Given the description of an element on the screen output the (x, y) to click on. 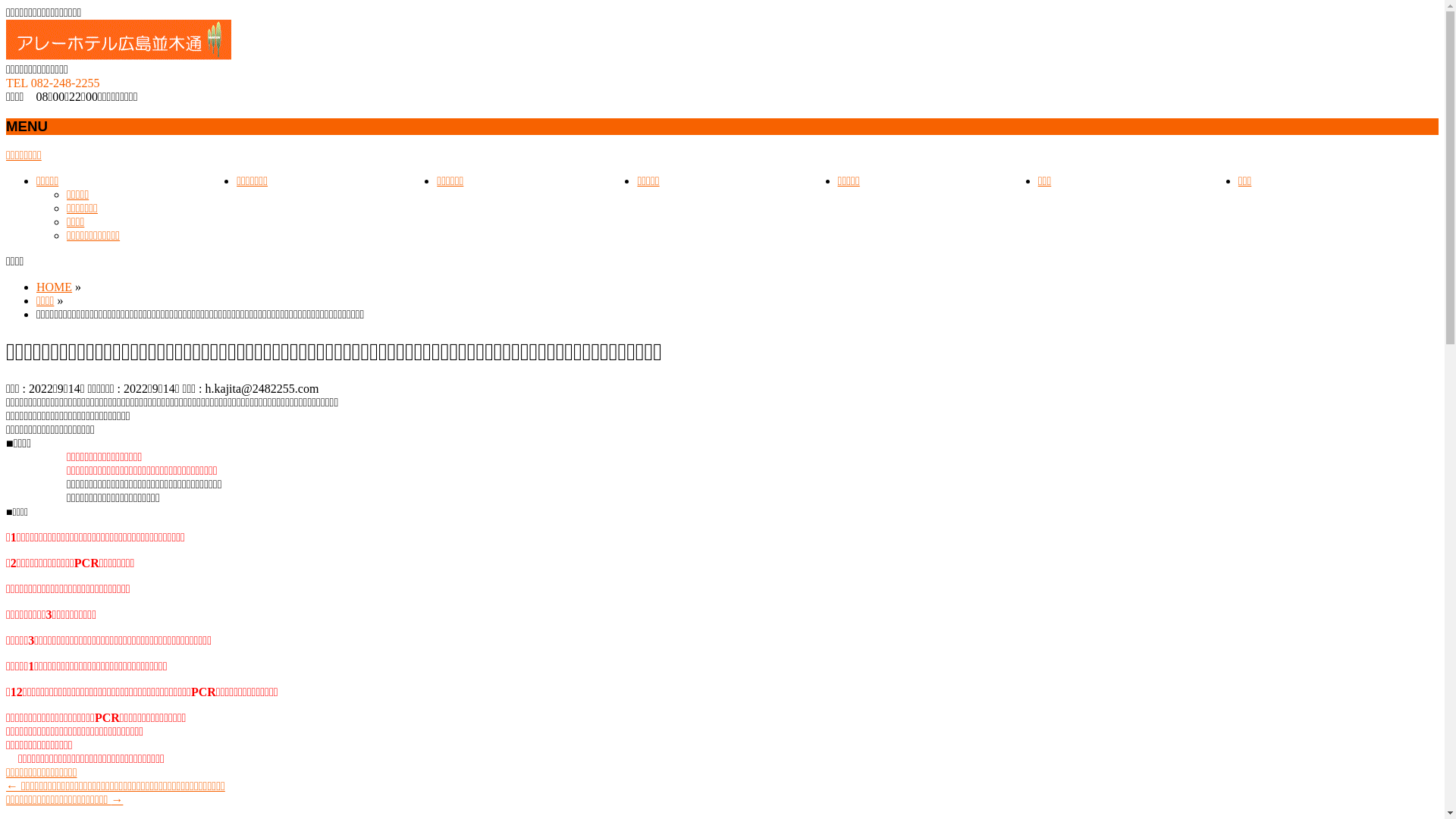
HOME Element type: text (54, 286)
MENU Element type: text (722, 126)
